Given the description of an element on the screen output the (x, y) to click on. 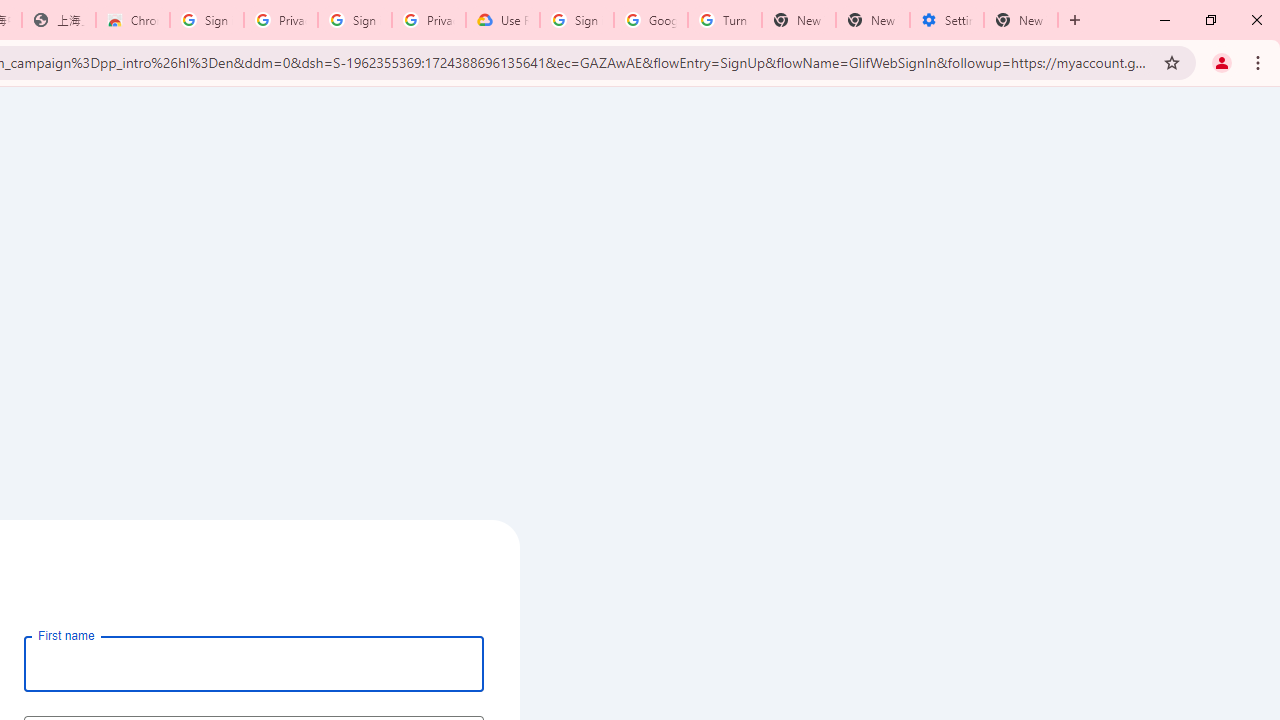
Close (1256, 20)
Chrome Web Store - Color themes by Chrome (133, 20)
Turn cookies on or off - Computer - Google Account Help (724, 20)
You (1221, 62)
New Tab (1075, 20)
Chrome (1260, 62)
Settings - System (947, 20)
Bookmark this tab (1171, 62)
Sign in - Google Accounts (207, 20)
First name (253, 663)
Google Account Help (651, 20)
Sign in - Google Accounts (354, 20)
New Tab (1021, 20)
